Given the description of an element on the screen output the (x, y) to click on. 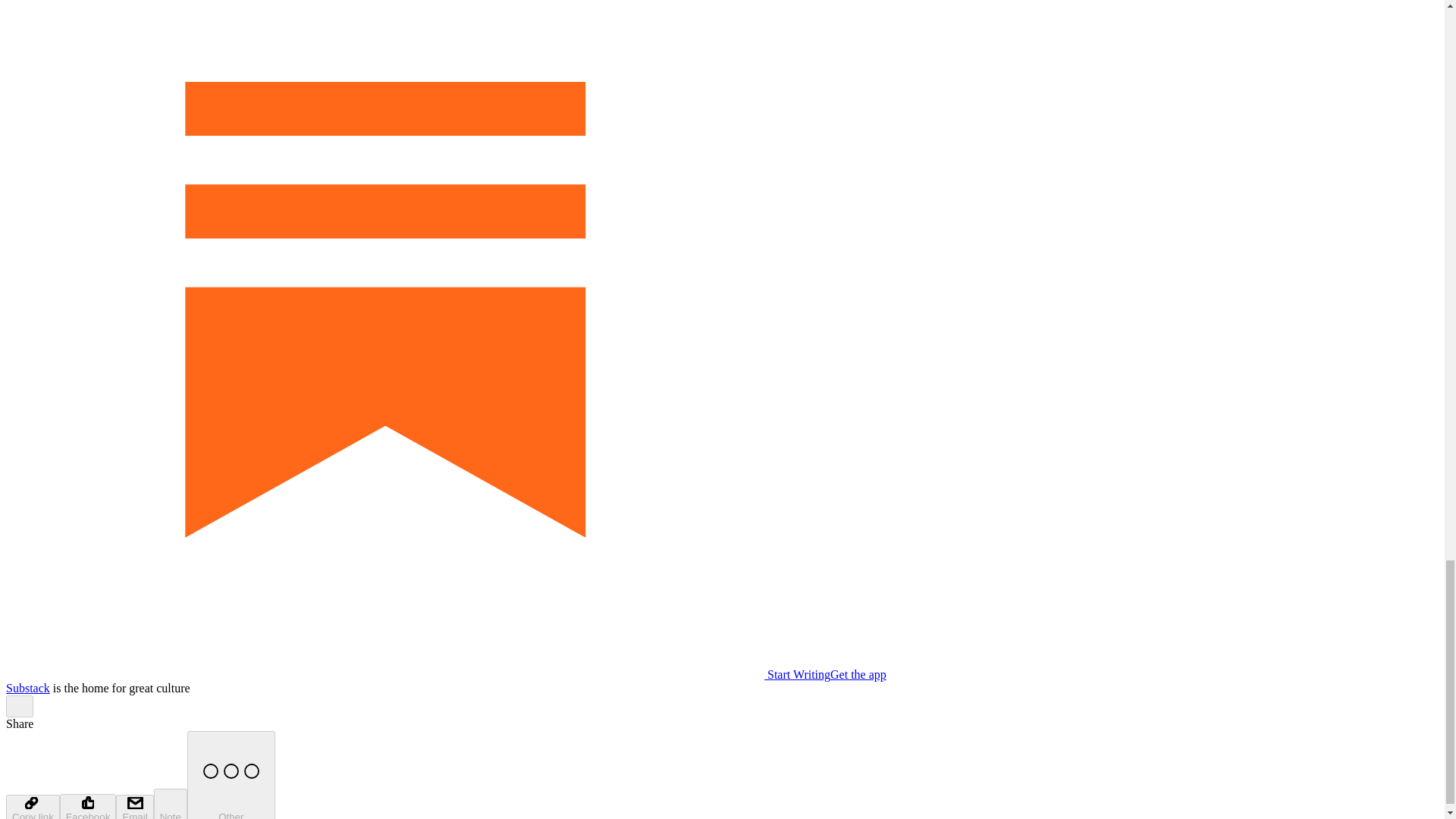
Start Writing (417, 674)
Substack (27, 687)
Get the app (857, 674)
